Given the description of an element on the screen output the (x, y) to click on. 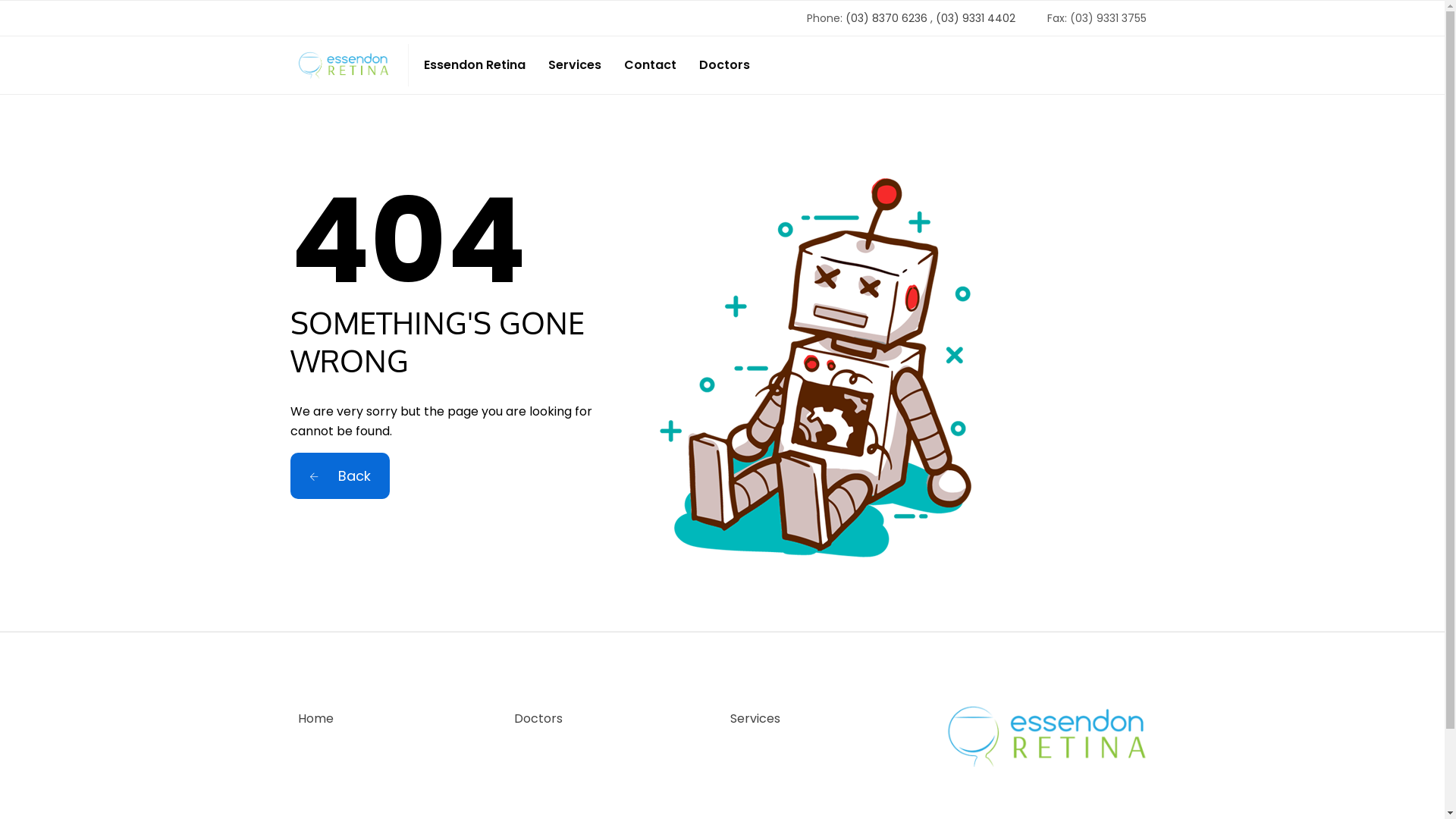
Essendon Retina Element type: text (473, 65)
Services Element type: text (754, 718)
Doctors Element type: text (724, 65)
Contact Element type: text (649, 65)
Home Element type: text (314, 718)
Doctors Element type: text (538, 718)
Services Element type: text (573, 65)
(03) 9331 4402 Element type: text (975, 17)
(03) 8370 6236 Element type: text (885, 17)
Back Element type: text (339, 475)
